Given the description of an element on the screen output the (x, y) to click on. 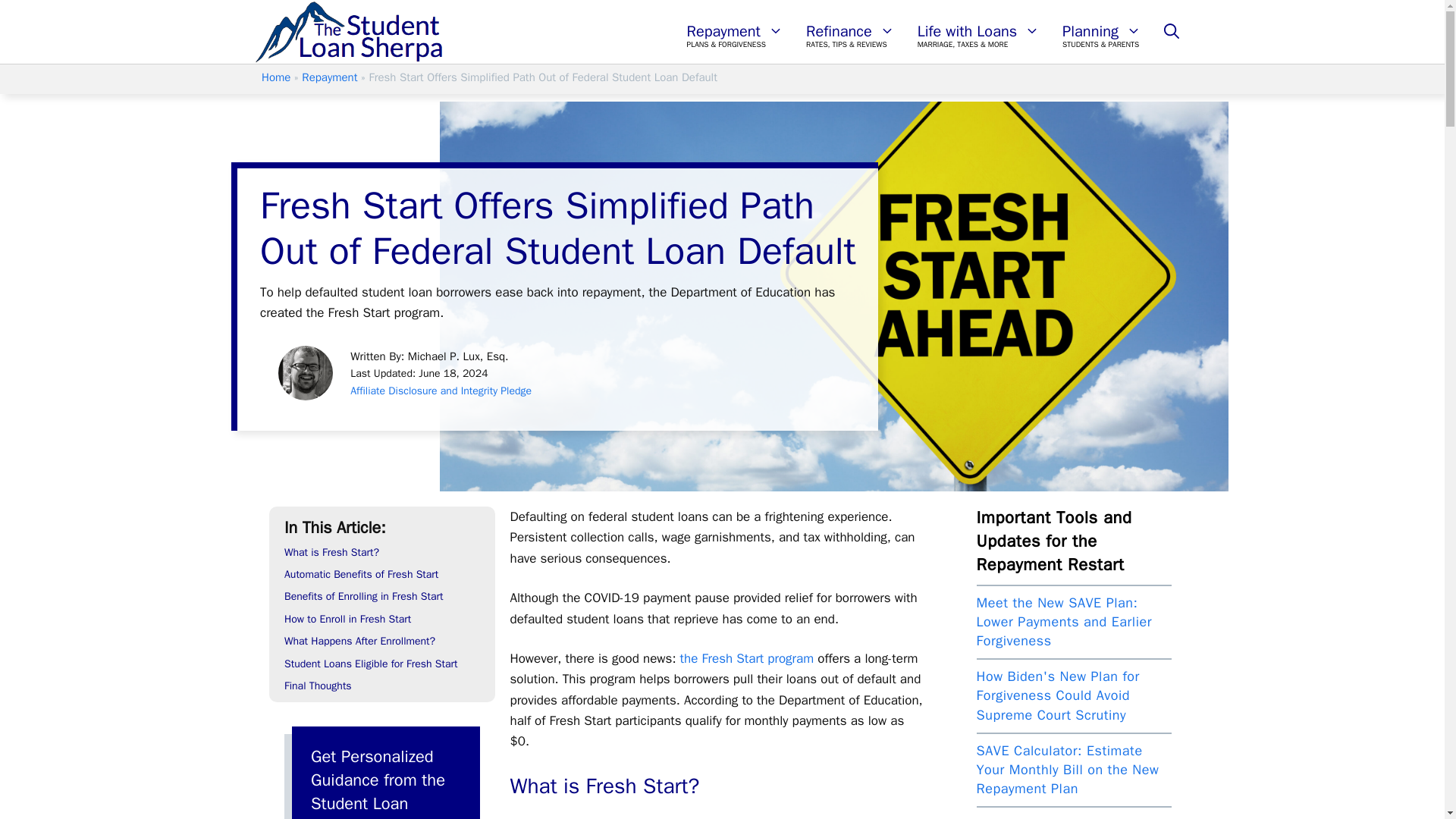
the Fresh Start program (746, 658)
Final Thoughts (317, 685)
What Happens After Enrollment? (359, 640)
Automatic Benefits of Fresh Start (360, 574)
Repayment (328, 77)
Student Loans Eligible for Fresh Start (370, 663)
How to Enroll in Fresh Start (346, 618)
Benefits of Enrolling in Fresh Start (362, 595)
Affiliate Disclosure and Integrity Pledge (440, 390)
What is Fresh Start? (330, 552)
Home (275, 77)
